Given the description of an element on the screen output the (x, y) to click on. 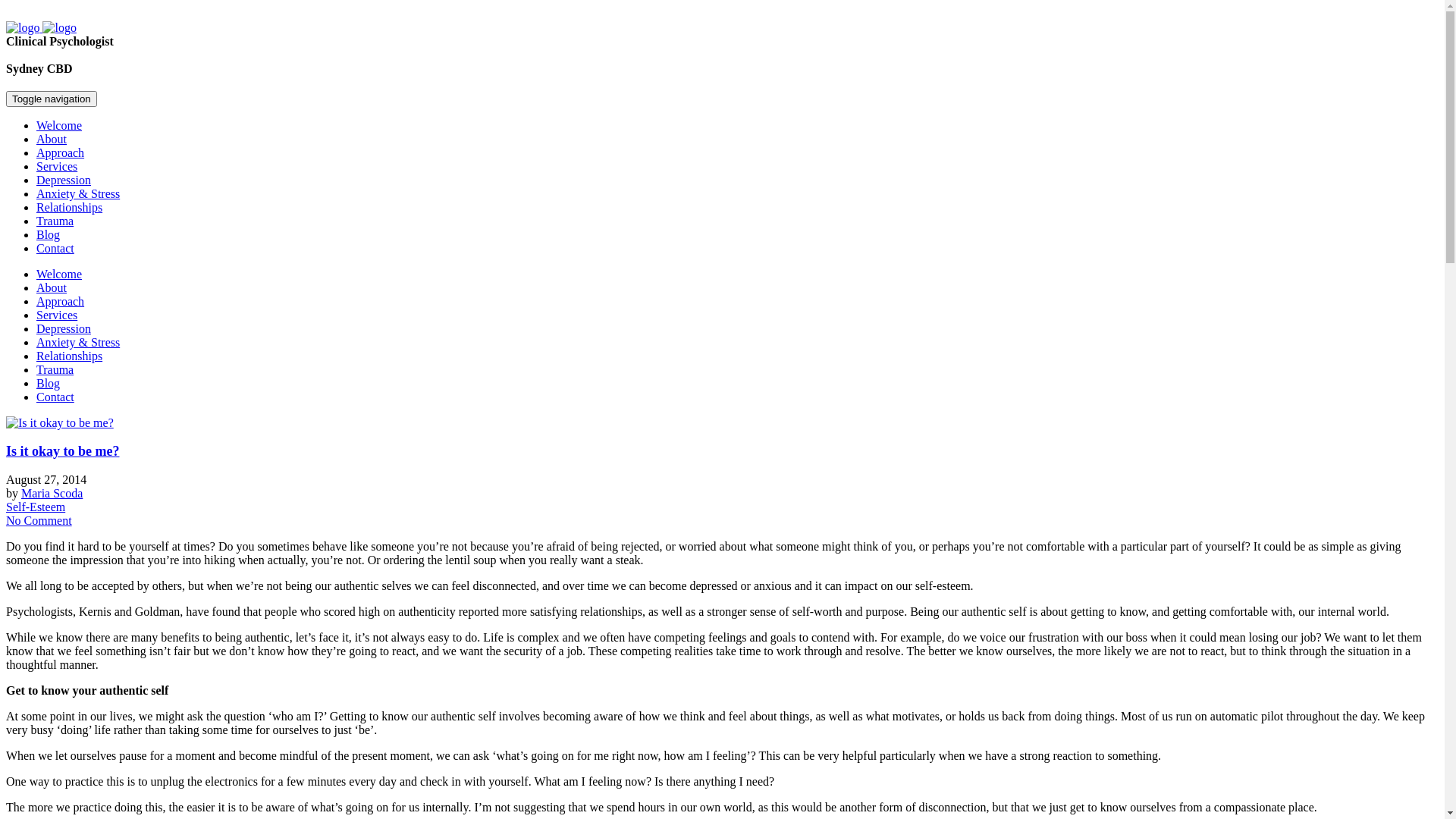
Welcome Element type: text (58, 125)
Approach Element type: text (60, 300)
Relationships Element type: text (69, 206)
Services Element type: text (56, 314)
About Element type: text (51, 287)
Toggle navigation Element type: text (51, 98)
Anxiety & Stress Element type: text (77, 341)
No Comment Element type: text (39, 520)
Trauma Element type: text (54, 220)
About Element type: text (51, 138)
Is it okay to be me? Element type: text (62, 450)
Approach Element type: text (60, 152)
Contact Element type: text (55, 247)
Trauma Element type: text (54, 369)
Services Element type: text (56, 166)
Welcome Element type: text (58, 273)
Depression Element type: text (63, 179)
Depression Element type: text (63, 328)
Maria Scoda Element type: text (51, 492)
Self-Esteem Element type: text (35, 506)
Dr Maria Scoda Element type: hover (41, 27)
Anxiety & Stress Element type: text (77, 193)
Contact Element type: text (55, 396)
Relationships Element type: text (69, 355)
Blog Element type: text (47, 382)
Blog Element type: text (47, 234)
